Given the description of an element on the screen output the (x, y) to click on. 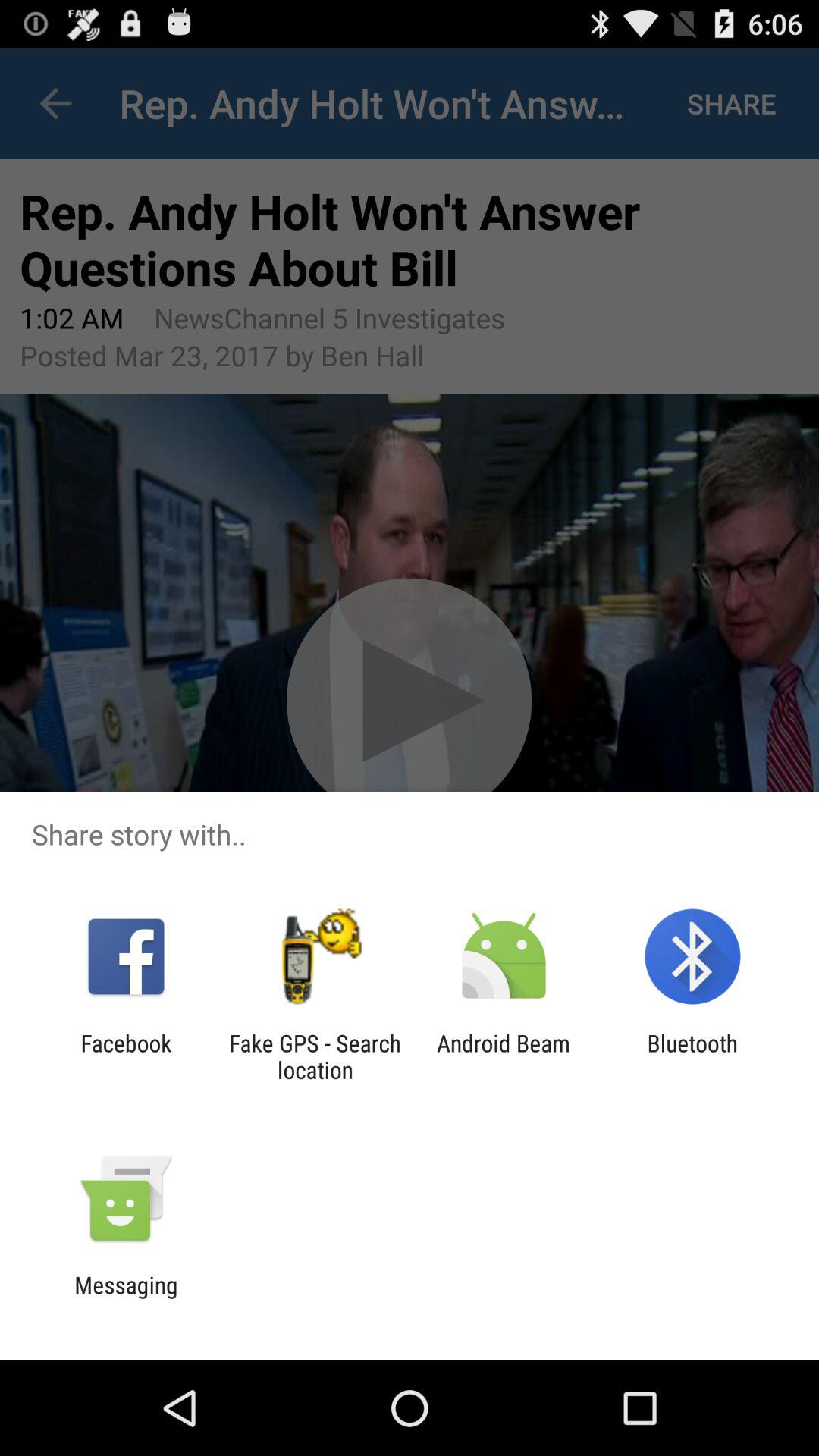
choose android beam item (503, 1056)
